Given the description of an element on the screen output the (x, y) to click on. 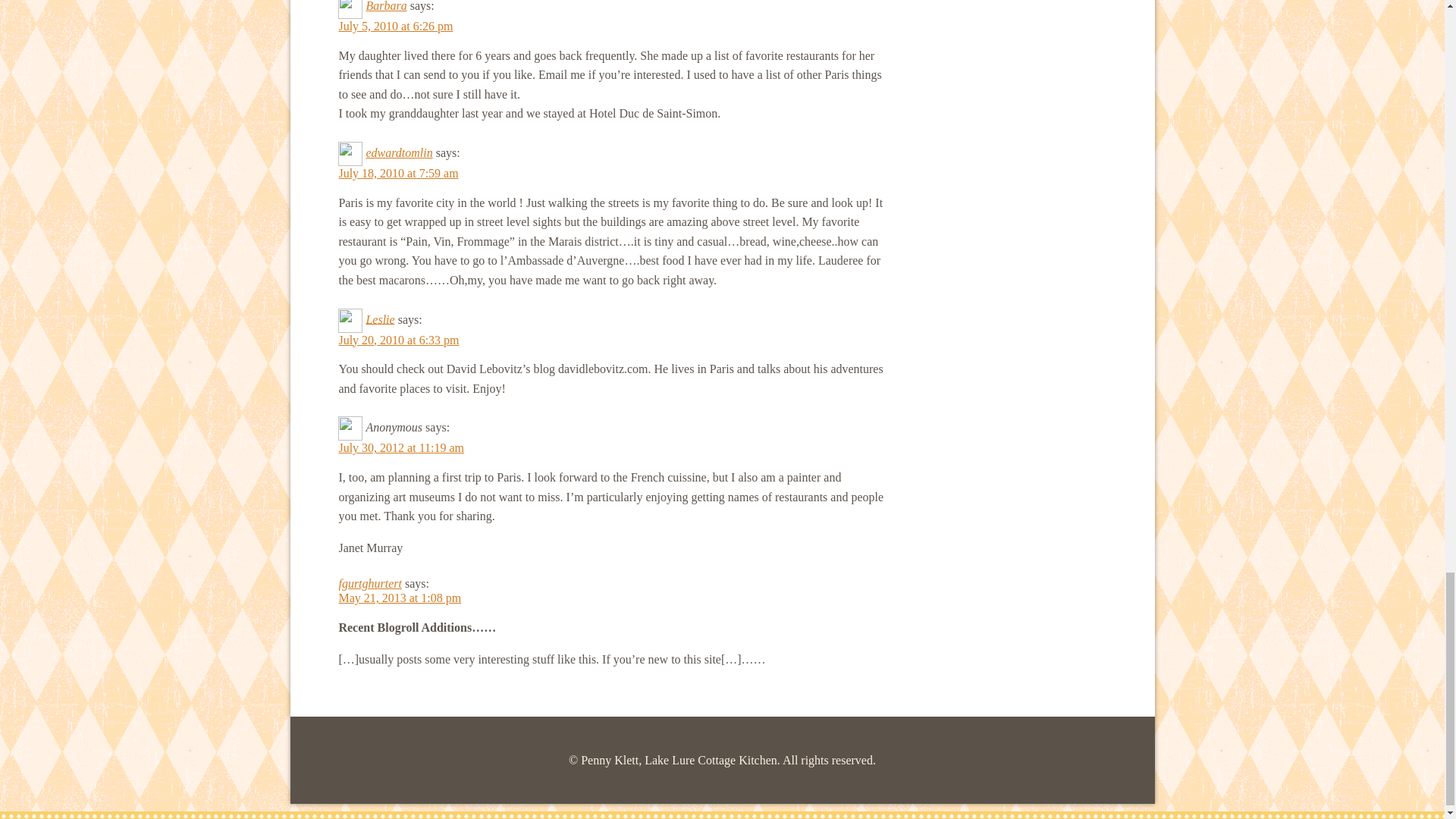
July 20, 2010 at 6:33 pm (397, 339)
July 30, 2012 at 11:19 am (400, 447)
Leslie (379, 318)
Barbara (385, 6)
May 21, 2013 at 1:08 pm (399, 597)
edwardtomlin (398, 152)
July 5, 2010 at 6:26 pm (394, 25)
fgurtghurtert (369, 583)
July 18, 2010 at 7:59 am (397, 173)
